Given the description of an element on the screen output the (x, y) to click on. 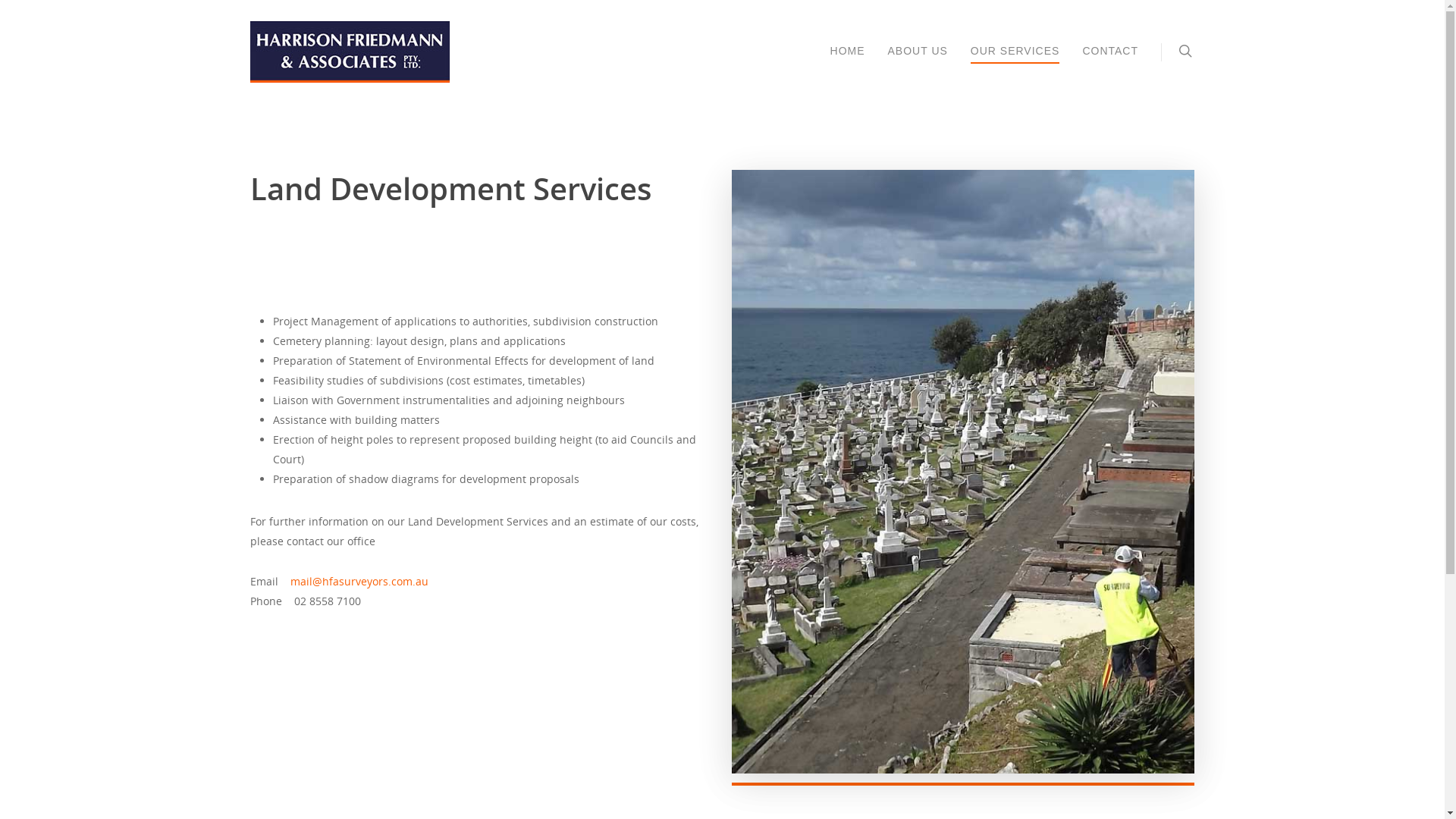
HOME Element type: text (847, 62)
OUR SERVICES Element type: text (1015, 62)
mail@hfasurveyors.com.au Element type: text (359, 581)
ABOUT US Element type: text (917, 62)
CONTACT Element type: text (1110, 62)
